Given the description of an element on the screen output the (x, y) to click on. 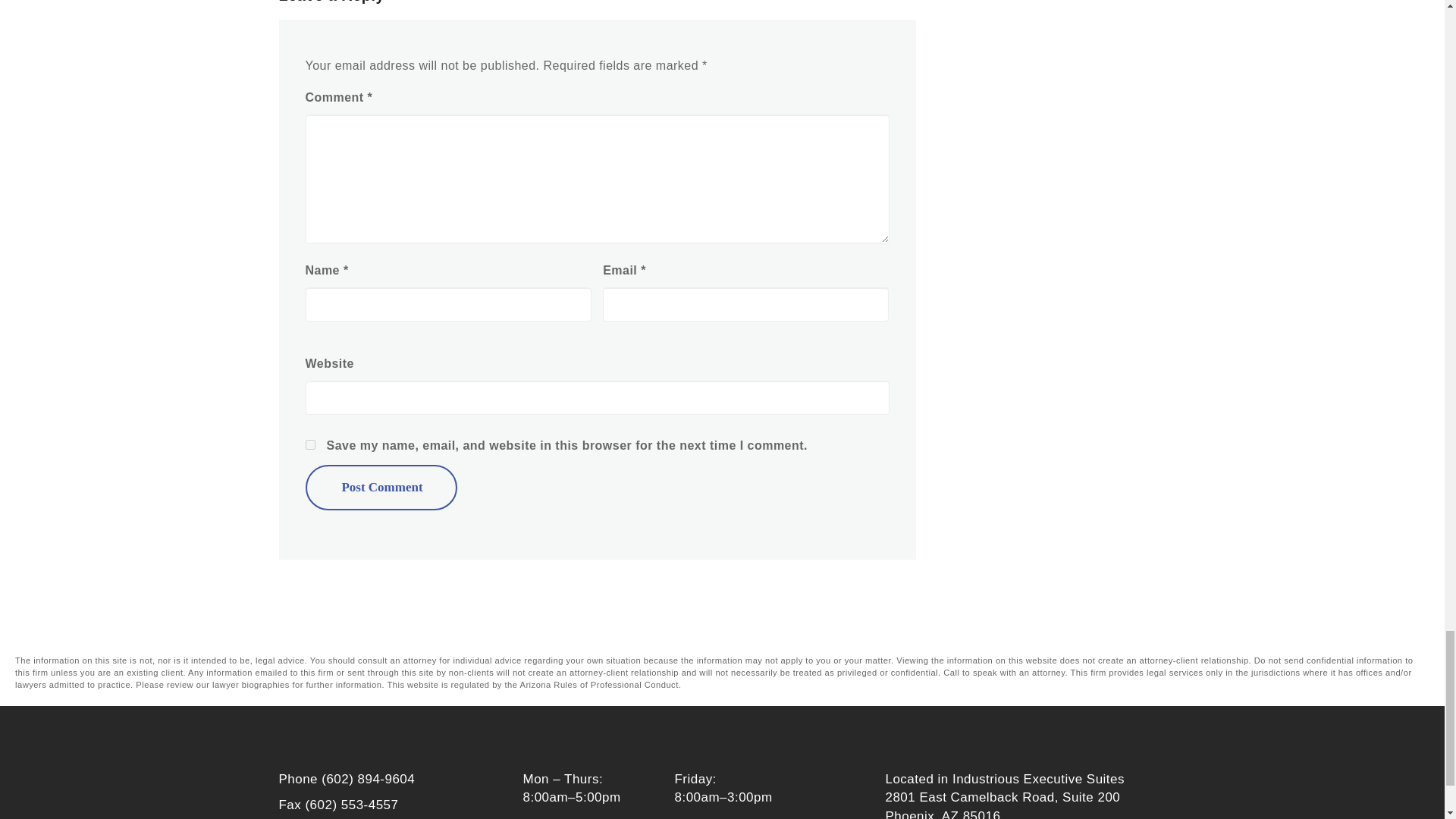
Post Comment (380, 487)
Post Comment (380, 487)
yes (309, 444)
